Given the description of an element on the screen output the (x, y) to click on. 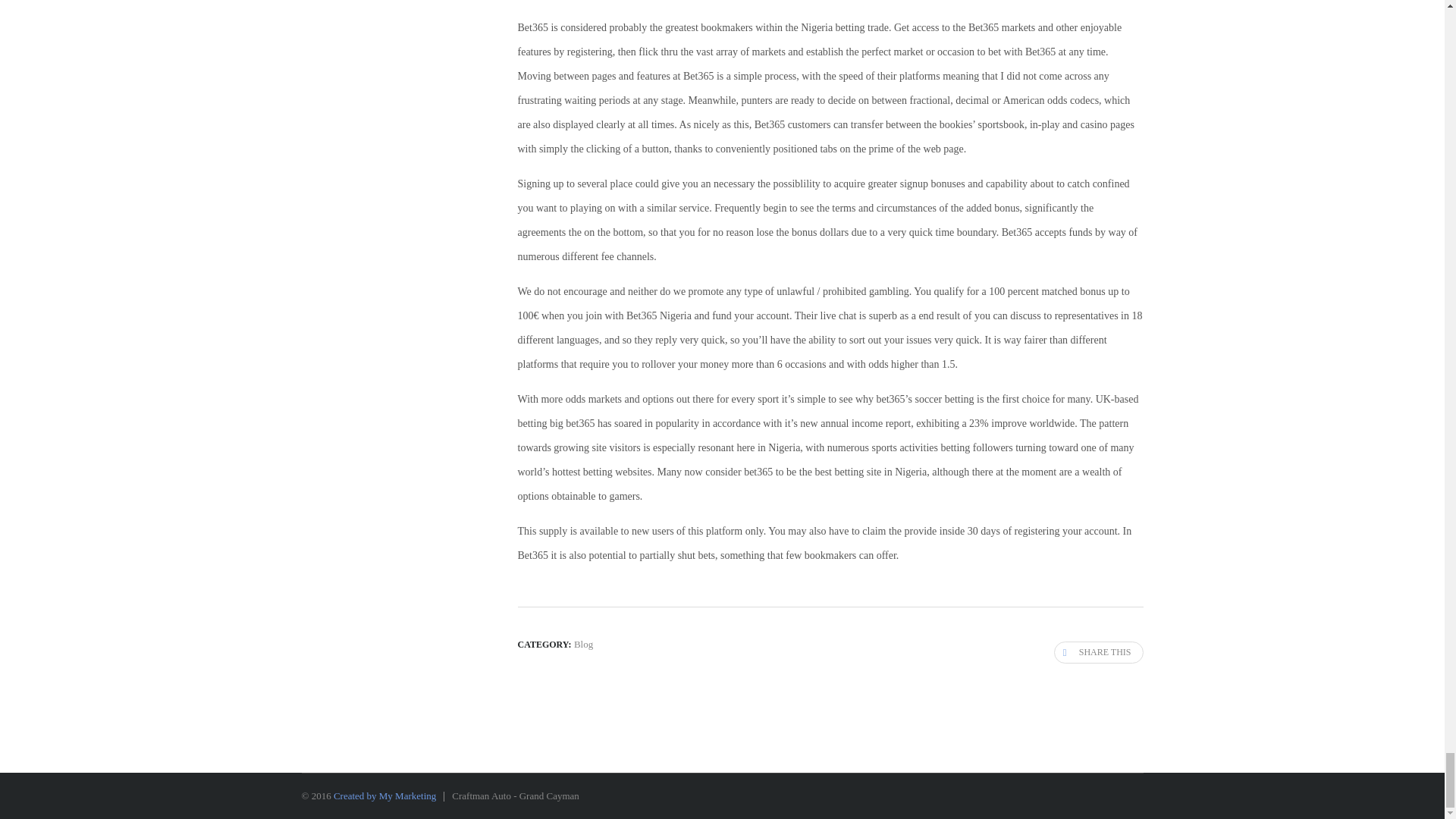
Blog (582, 644)
Share this (1098, 652)
SHARE THIS (1098, 652)
